Given the description of an element on the screen output the (x, y) to click on. 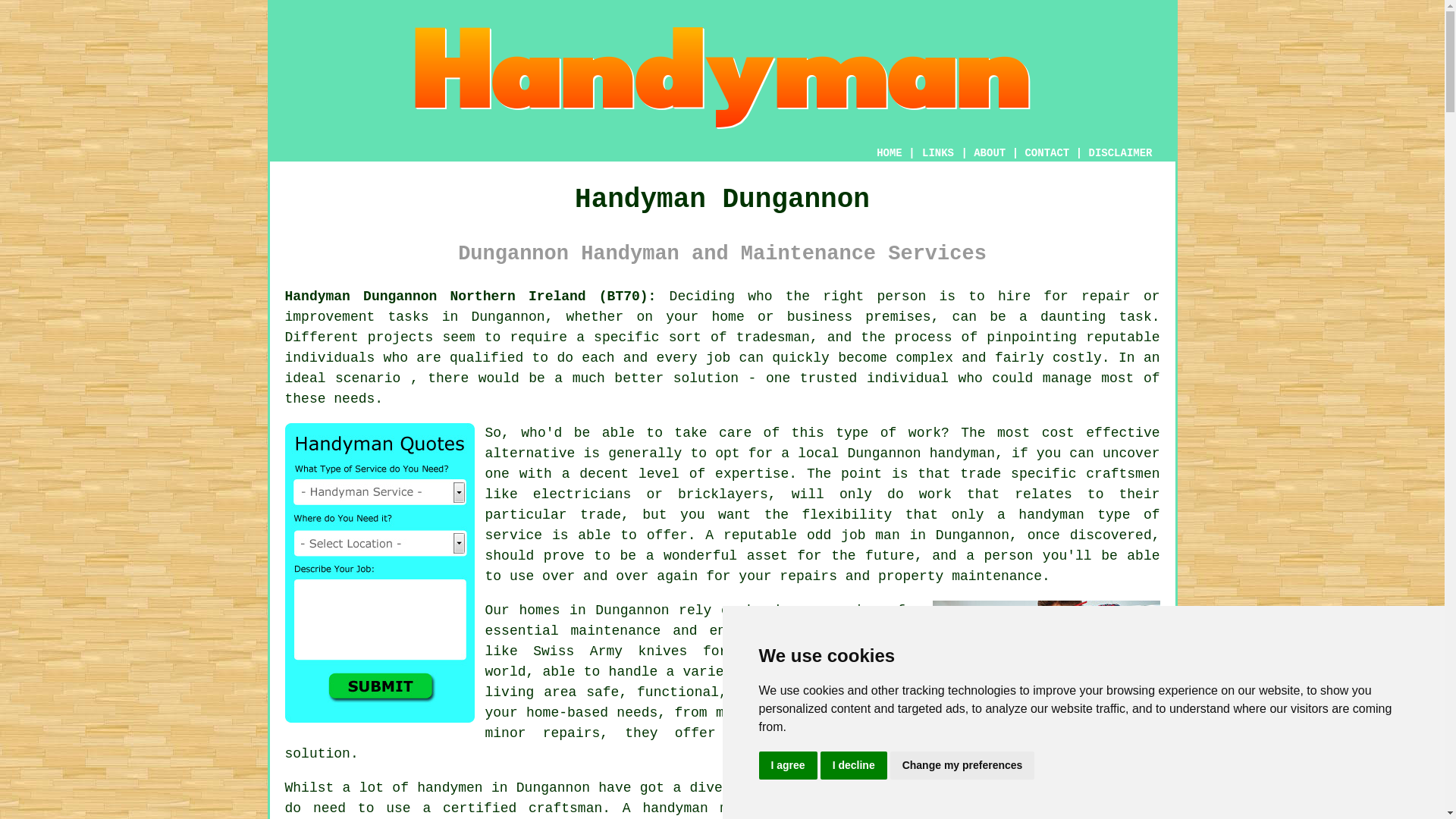
projects (400, 337)
I decline (853, 765)
HOME (889, 152)
Change my preferences (962, 765)
LINKS (938, 152)
I agree (787, 765)
